Given the description of an element on the screen output the (x, y) to click on. 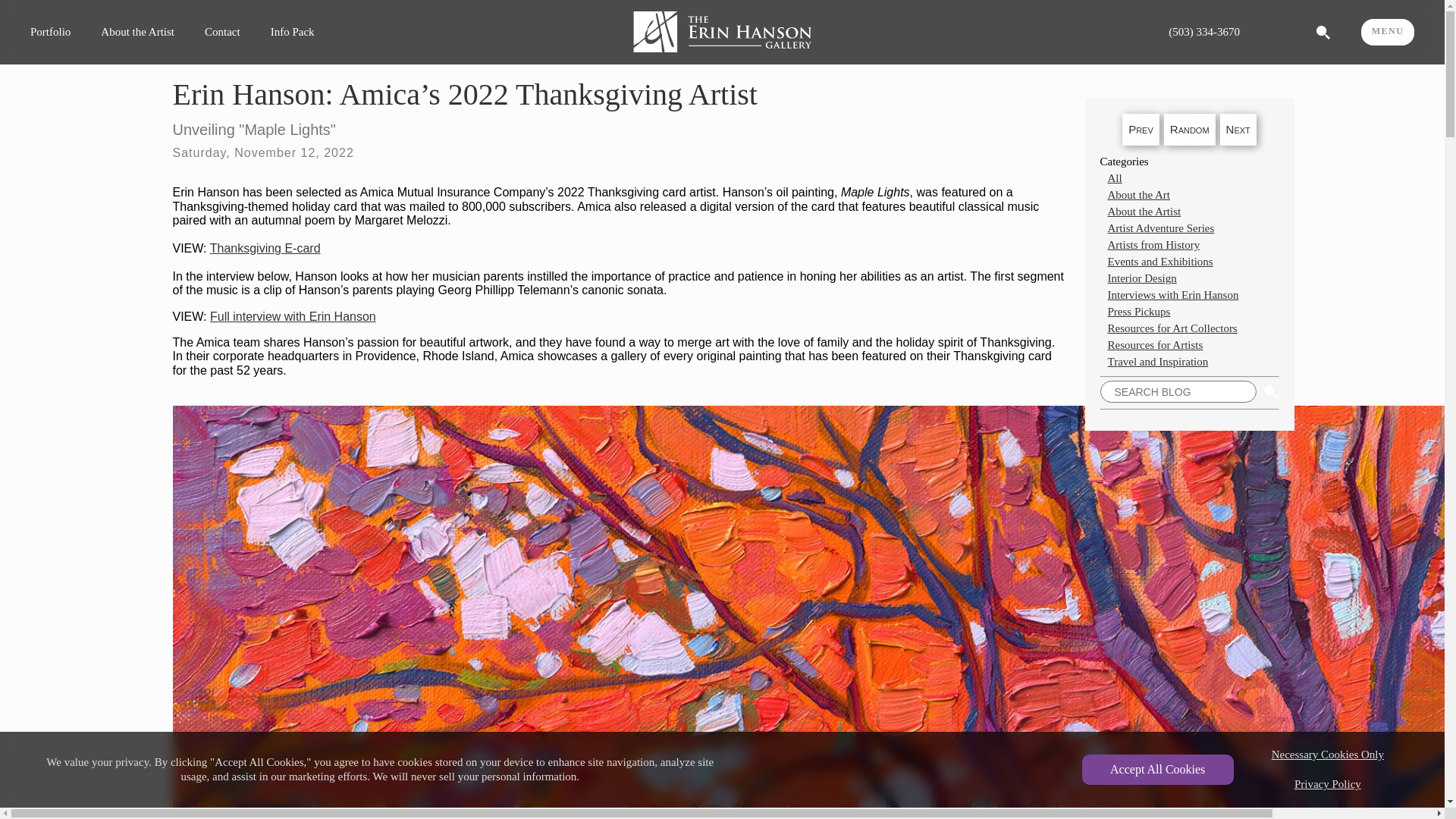
MENU (1387, 31)
About the Artist (137, 31)
Portfolio (49, 31)
Info Pack (292, 31)
Contact (222, 31)
